Given the description of an element on the screen output the (x, y) to click on. 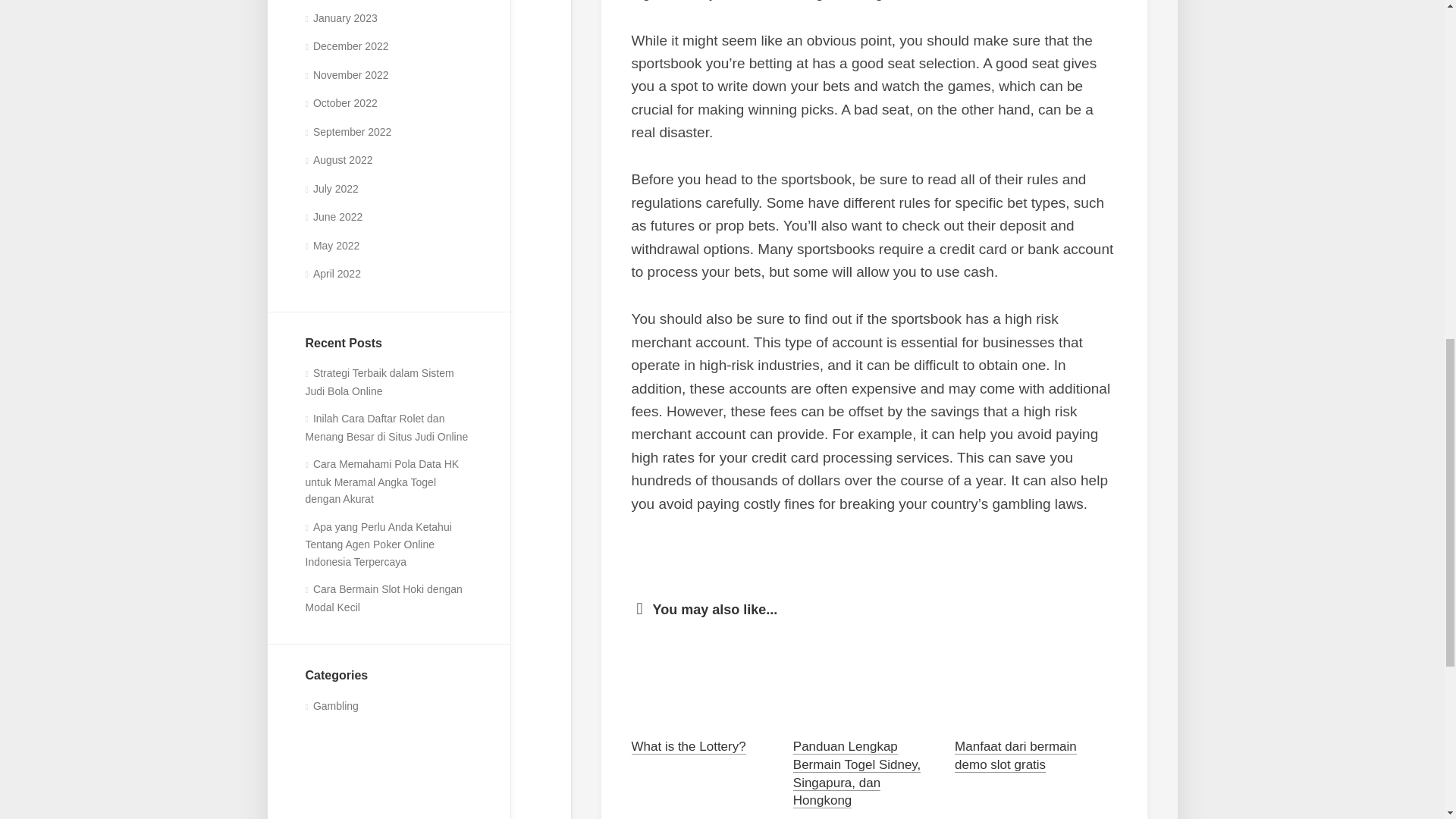
Gambling (331, 705)
April 2022 (331, 273)
December 2022 (346, 46)
September 2022 (347, 132)
August 2022 (338, 159)
November 2022 (346, 74)
Cara Bermain Slot Hoki dengan Modal Kecil (382, 598)
June 2022 (333, 216)
May 2022 (331, 245)
